Given the description of an element on the screen output the (x, y) to click on. 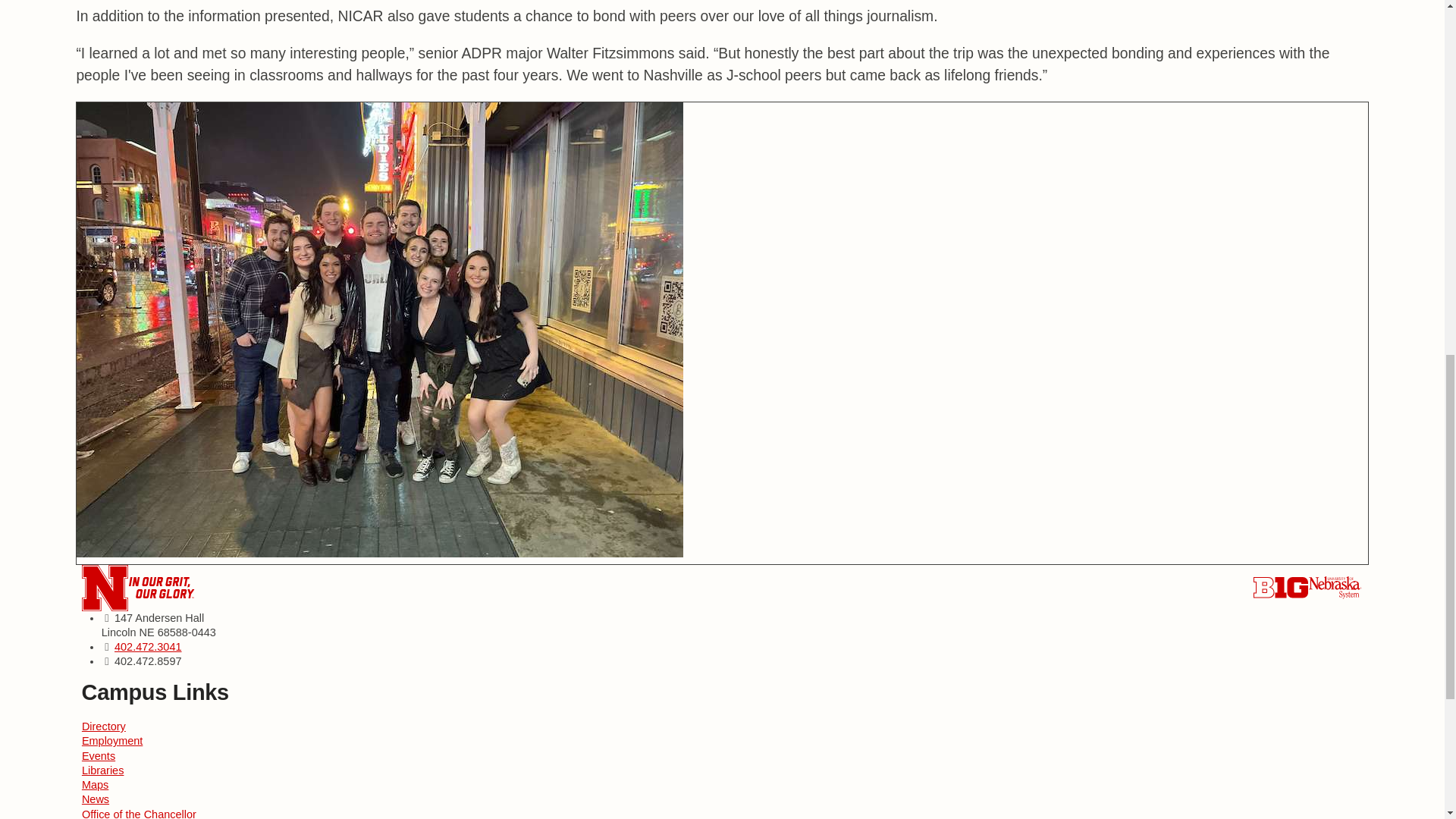
phone (148, 646)
